Given the description of an element on the screen output the (x, y) to click on. 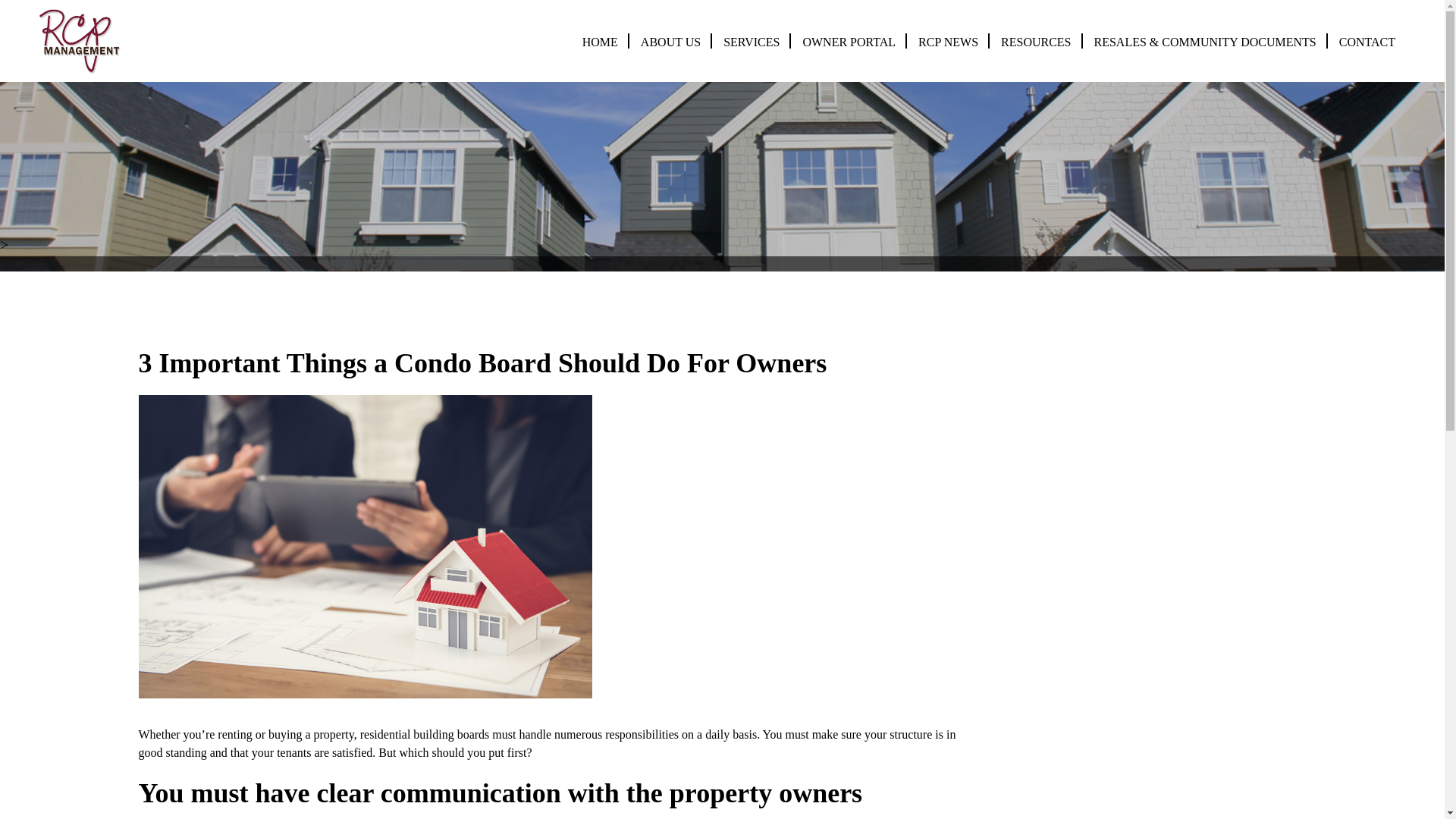
SERVICES (750, 42)
RCP NEWS (948, 42)
HOME (599, 42)
CONTACT (1366, 42)
ABOUT US (670, 42)
RESOURCES (1035, 42)
OWNER PORTAL (848, 42)
